Given the description of an element on the screen output the (x, y) to click on. 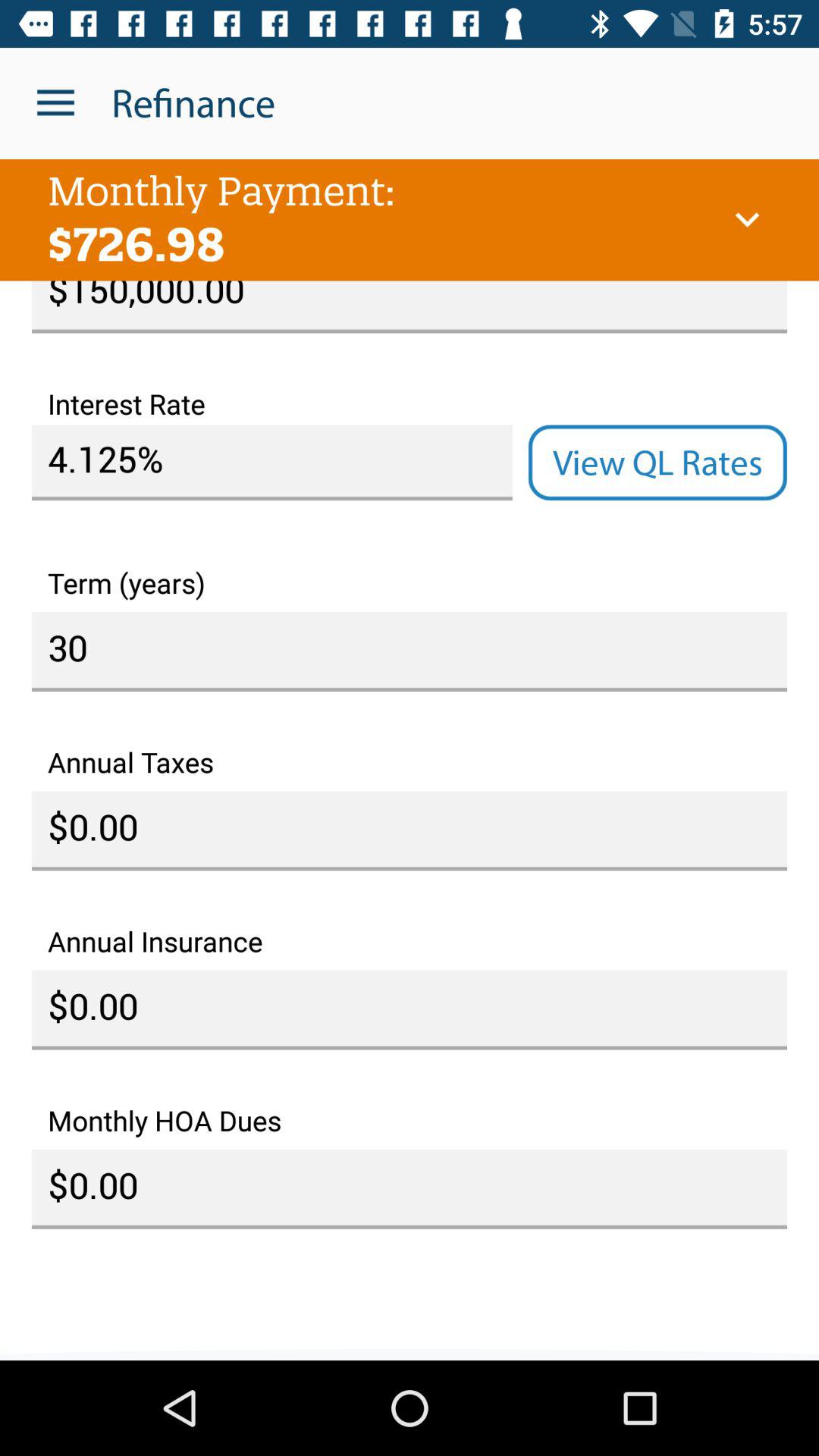
flip until the 30 (409, 651)
